Given the description of an element on the screen output the (x, y) to click on. 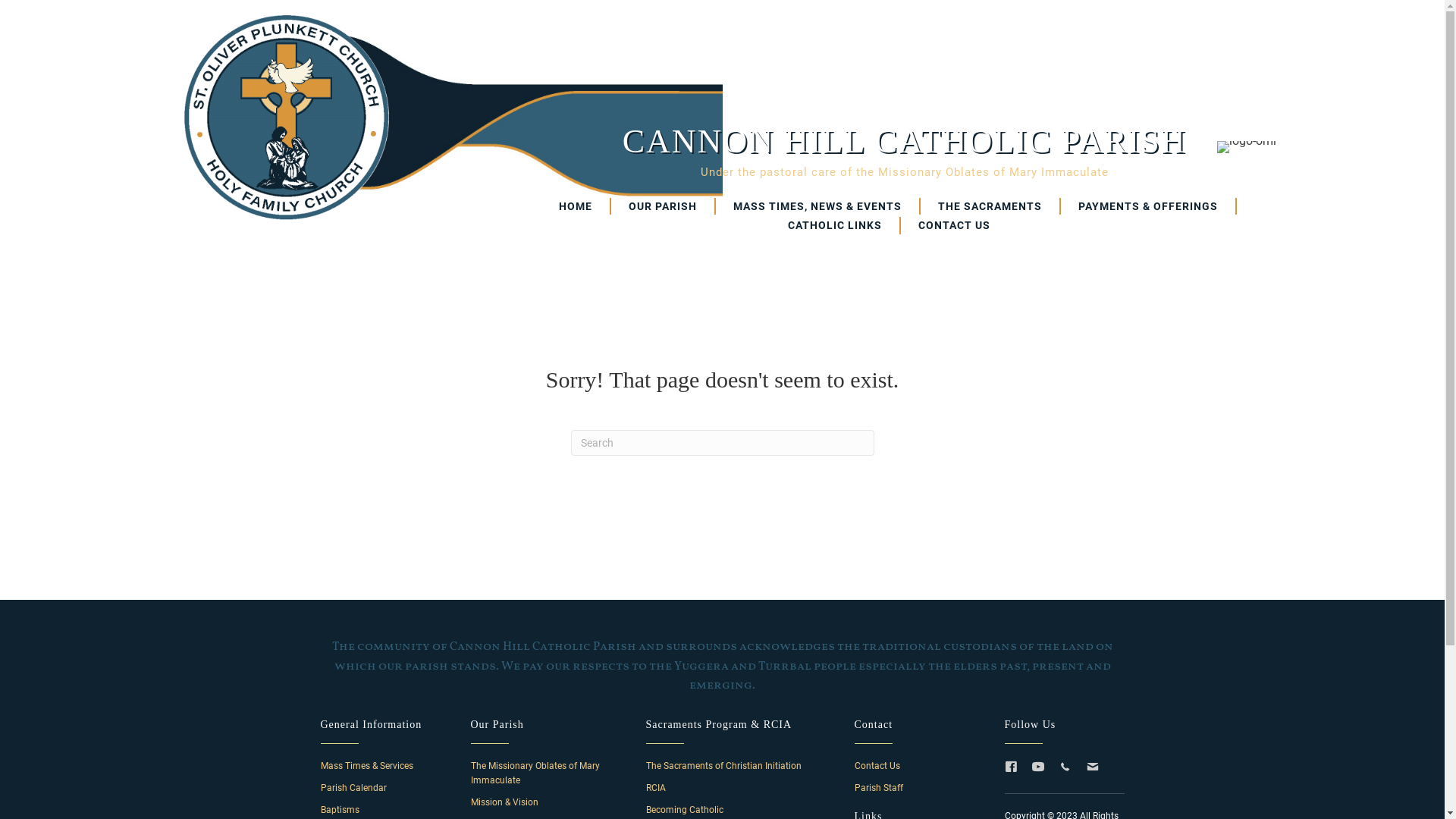
CATHOLIC LINKS Element type: text (835, 224)
Becoming Catholic Element type: text (684, 809)
THE SACRAMENTS Element type: text (990, 205)
The Missionary Oblates of Mary Immaculate Element type: text (534, 772)
Parish Staff Element type: text (877, 787)
logo Element type: hover (285, 117)
RCIA Element type: text (655, 787)
HOME Element type: text (576, 205)
The Sacraments of Christian Initiation Element type: text (723, 765)
PAYMENTS & OFFERINGS Element type: text (1148, 205)
Mission & Vision Element type: text (503, 802)
Baptisms Element type: text (339, 809)
Mass Times & Services Element type: text (366, 765)
Type and press Enter to search. Element type: hover (721, 442)
Contact Us Element type: text (876, 765)
Parish Calendar Element type: text (352, 787)
MASS TIMES, NEWS & EVENTS Element type: text (817, 205)
logo-omi Element type: hover (1245, 147)
OUR PARISH Element type: text (663, 205)
CONTACT US Element type: text (953, 224)
